Given the description of an element on the screen output the (x, y) to click on. 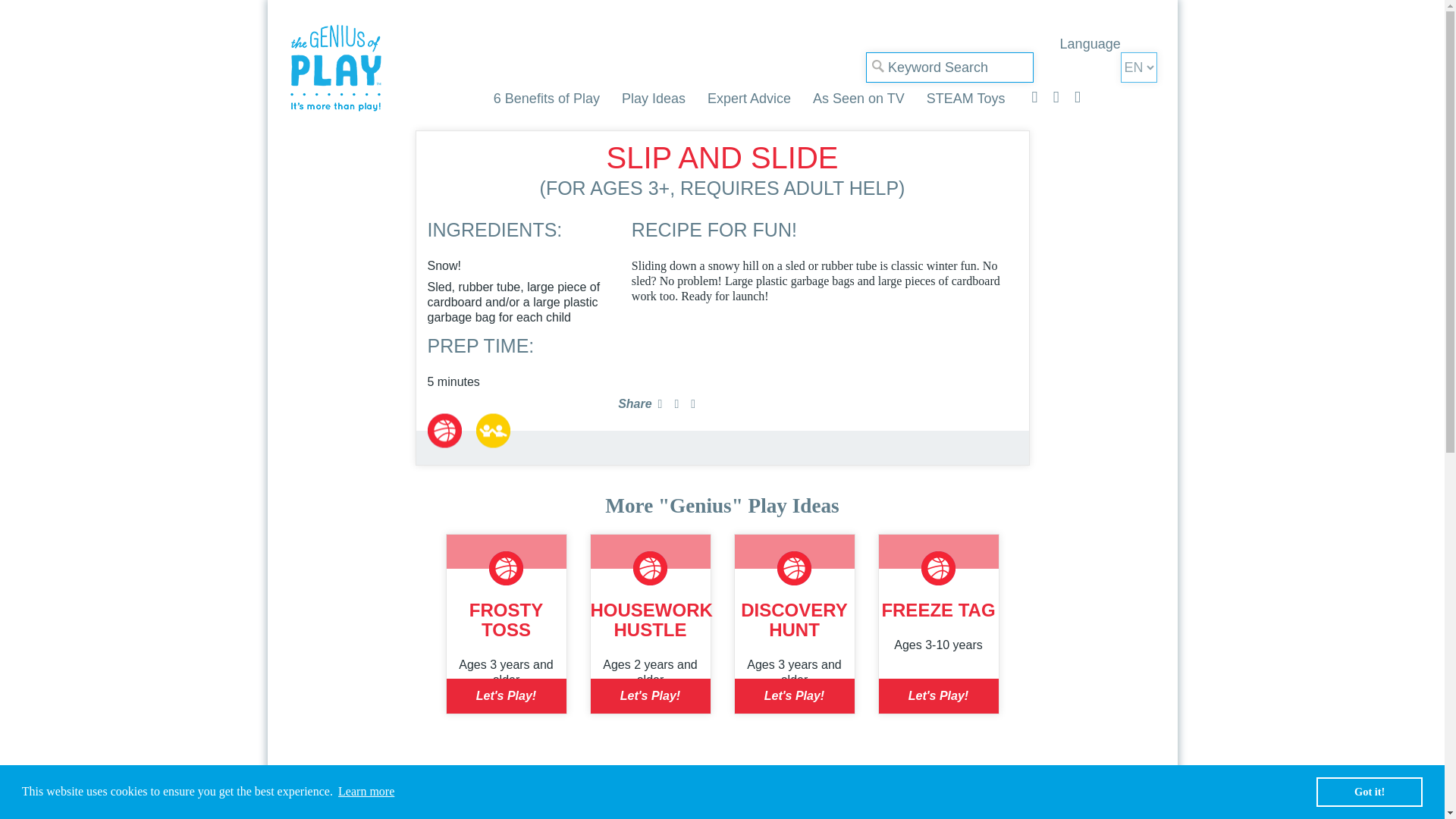
Keyword Search (949, 67)
Expert Advice (748, 98)
HOUSEWORK HUSTLE (650, 619)
Keyword Search (949, 67)
Home (334, 67)
Play Ideas (653, 98)
The Genius of Play (334, 67)
Learn more (366, 791)
Got it! (1369, 791)
FROSTY TOSS (505, 619)
As Seen on TV (858, 98)
Let's Play! (505, 695)
STEAM Toys (965, 98)
6 Benefits of Play (546, 98)
